Given the description of an element on the screen output the (x, y) to click on. 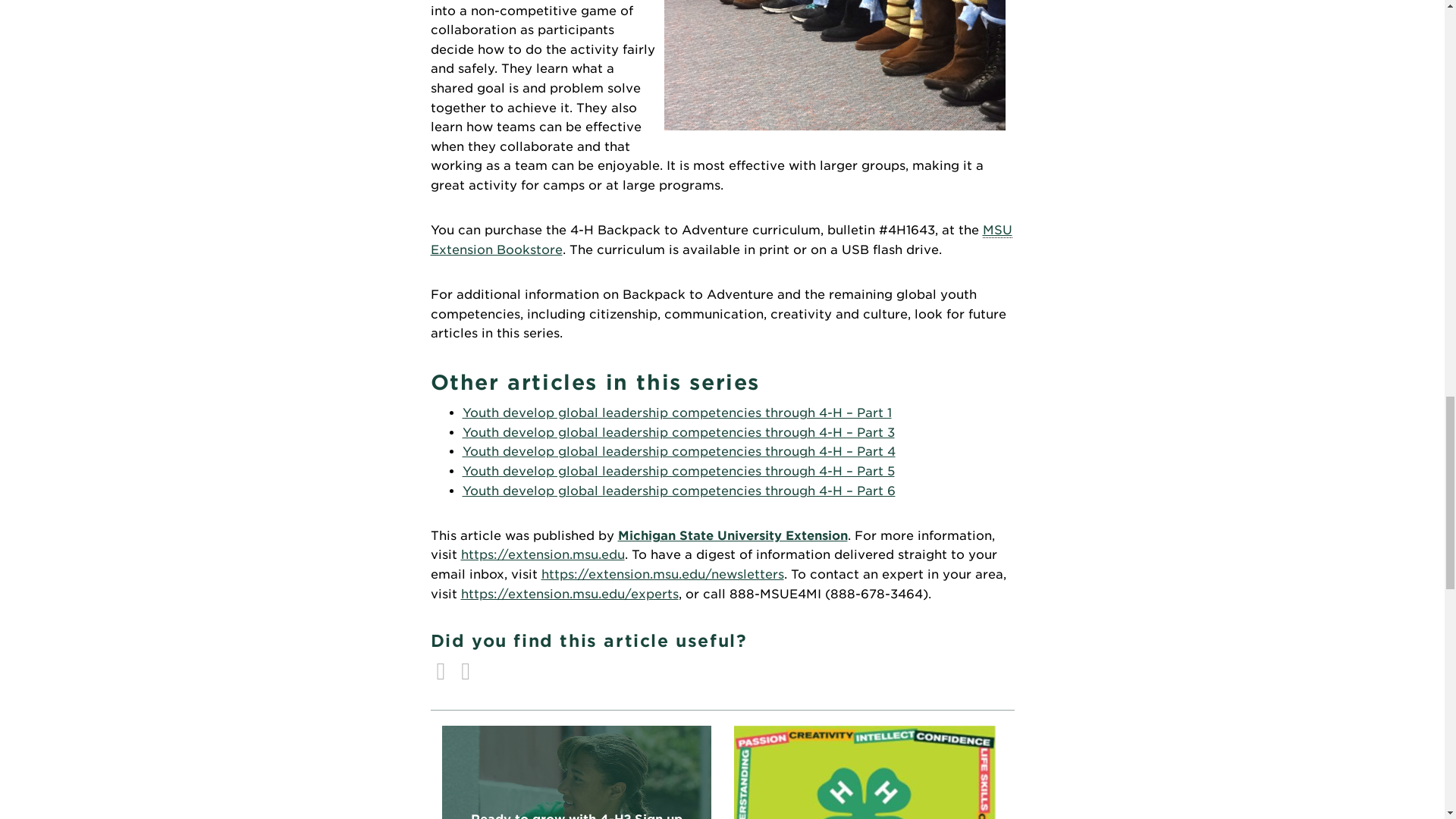
MSU Extension Bookstore (720, 239)
Michigan State University Extension (577, 814)
Michigan State University Extension (732, 535)
Michigan State University (732, 535)
